Given the description of an element on the screen output the (x, y) to click on. 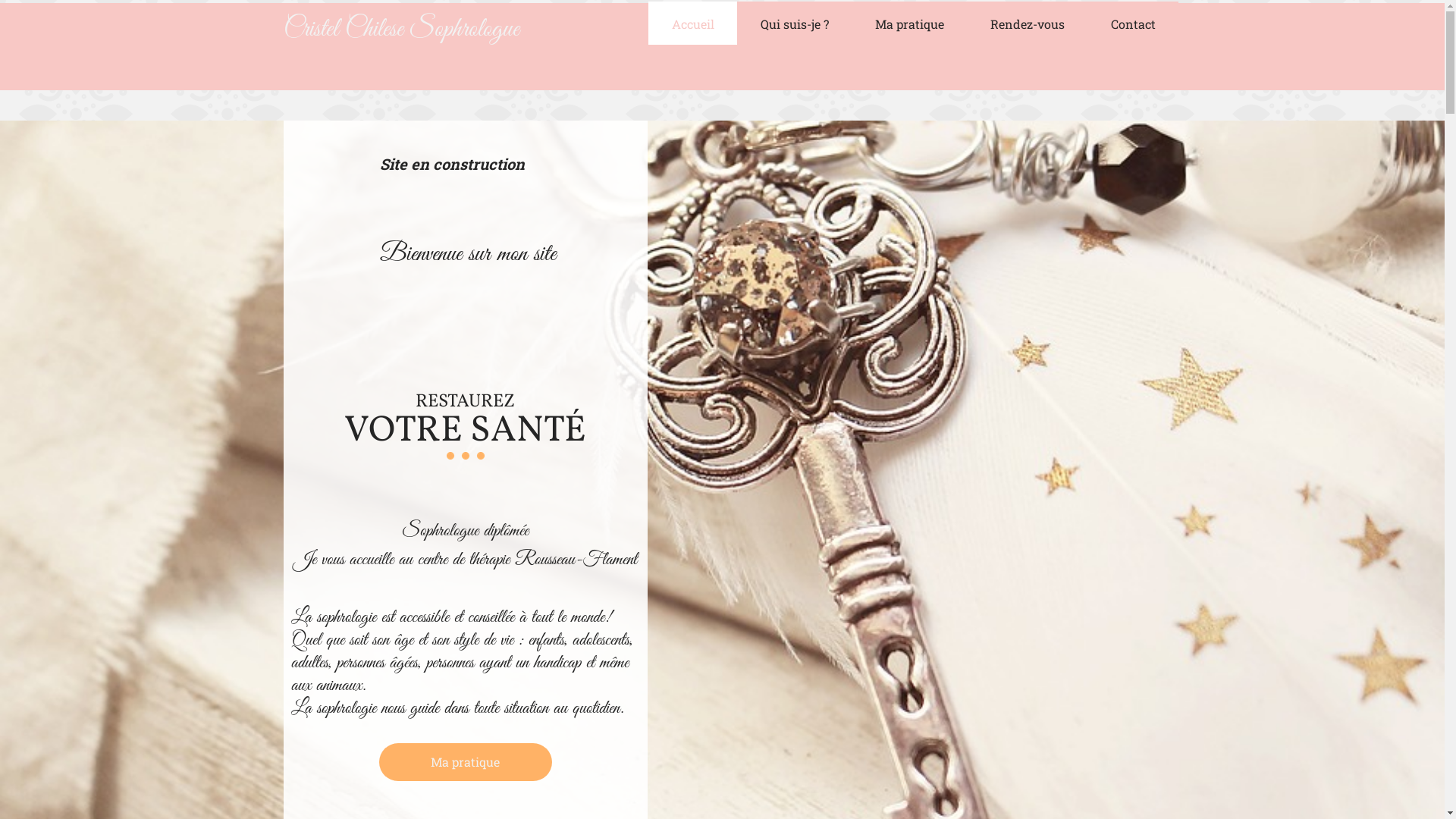
Ma pratique Element type: text (465, 762)
Accueil Element type: text (691, 22)
Ma pratique Element type: text (908, 22)
Contact Element type: text (1132, 22)
Qui suis-je ? Element type: text (794, 22)
Rendez-vous Element type: text (1026, 22)
Cristel Chilese Sophrologue Element type: text (401, 32)
